Given the description of an element on the screen output the (x, y) to click on. 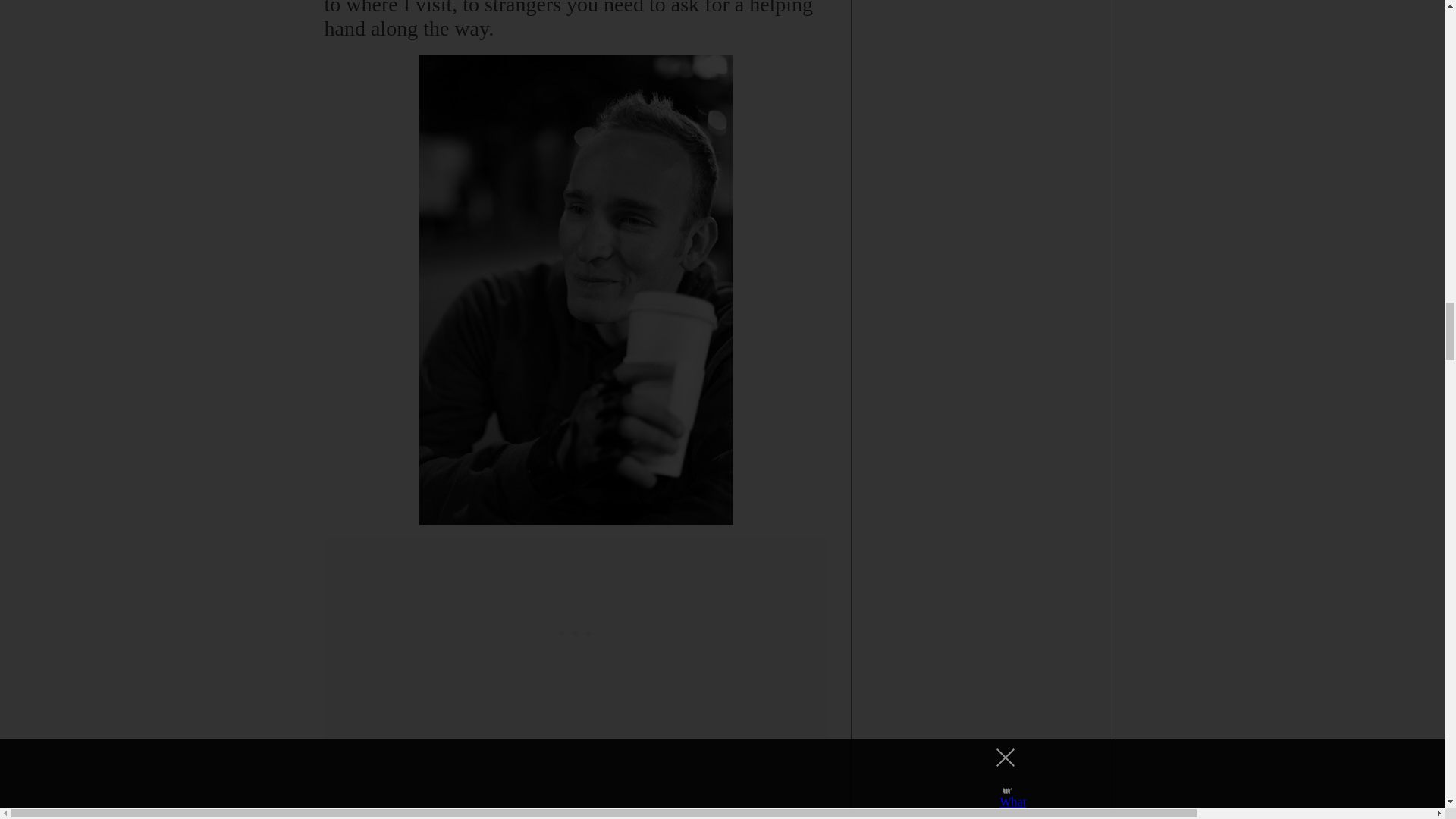
3rd party ad content (576, 633)
